Given the description of an element on the screen output the (x, y) to click on. 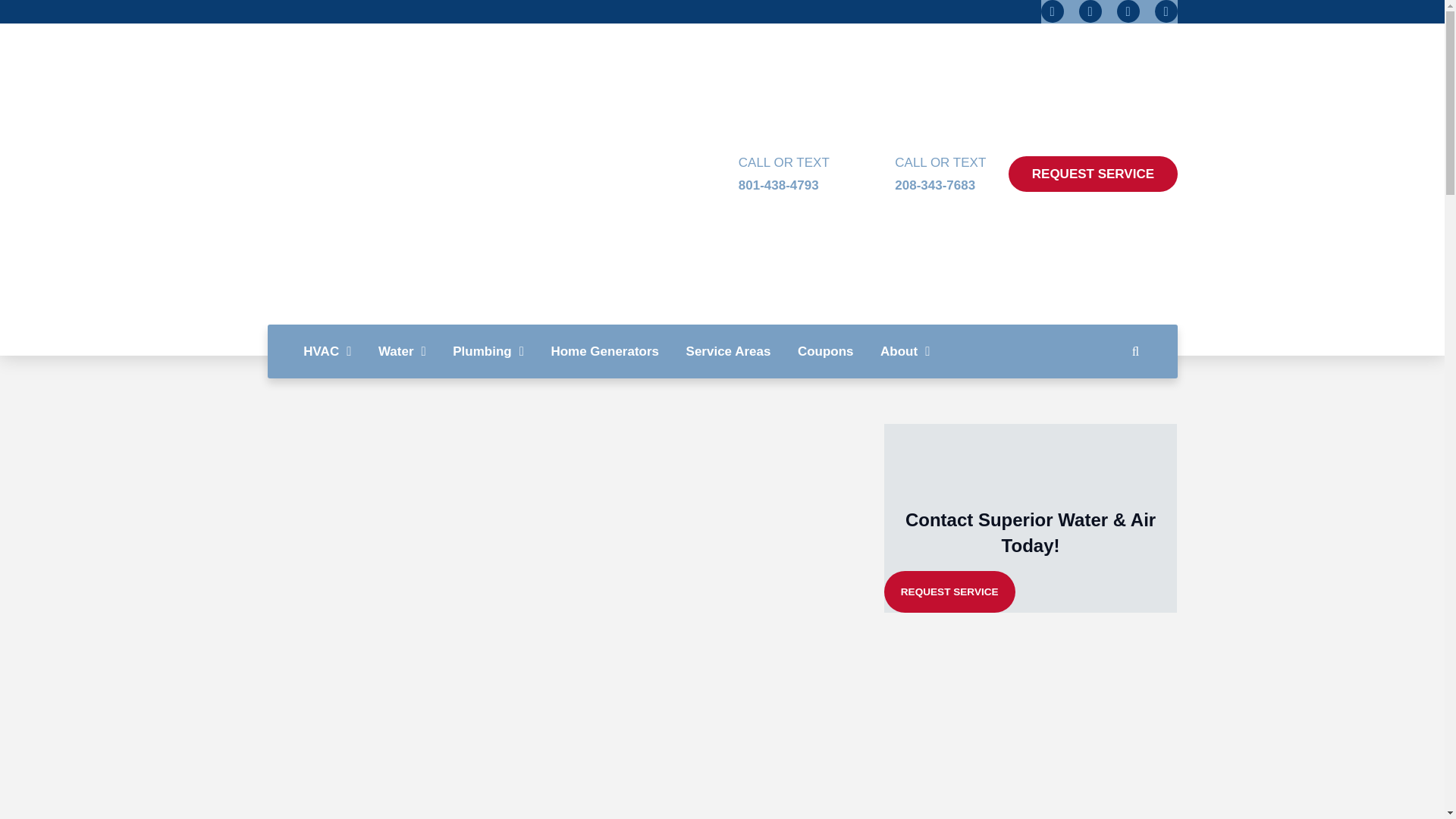
Service Areas (728, 351)
REQUEST SERVICE (1092, 173)
Water (750, 173)
Home Generators (402, 351)
About (604, 351)
Plumbing (904, 351)
HVAC (488, 351)
Coupons (907, 173)
